Given the description of an element on the screen output the (x, y) to click on. 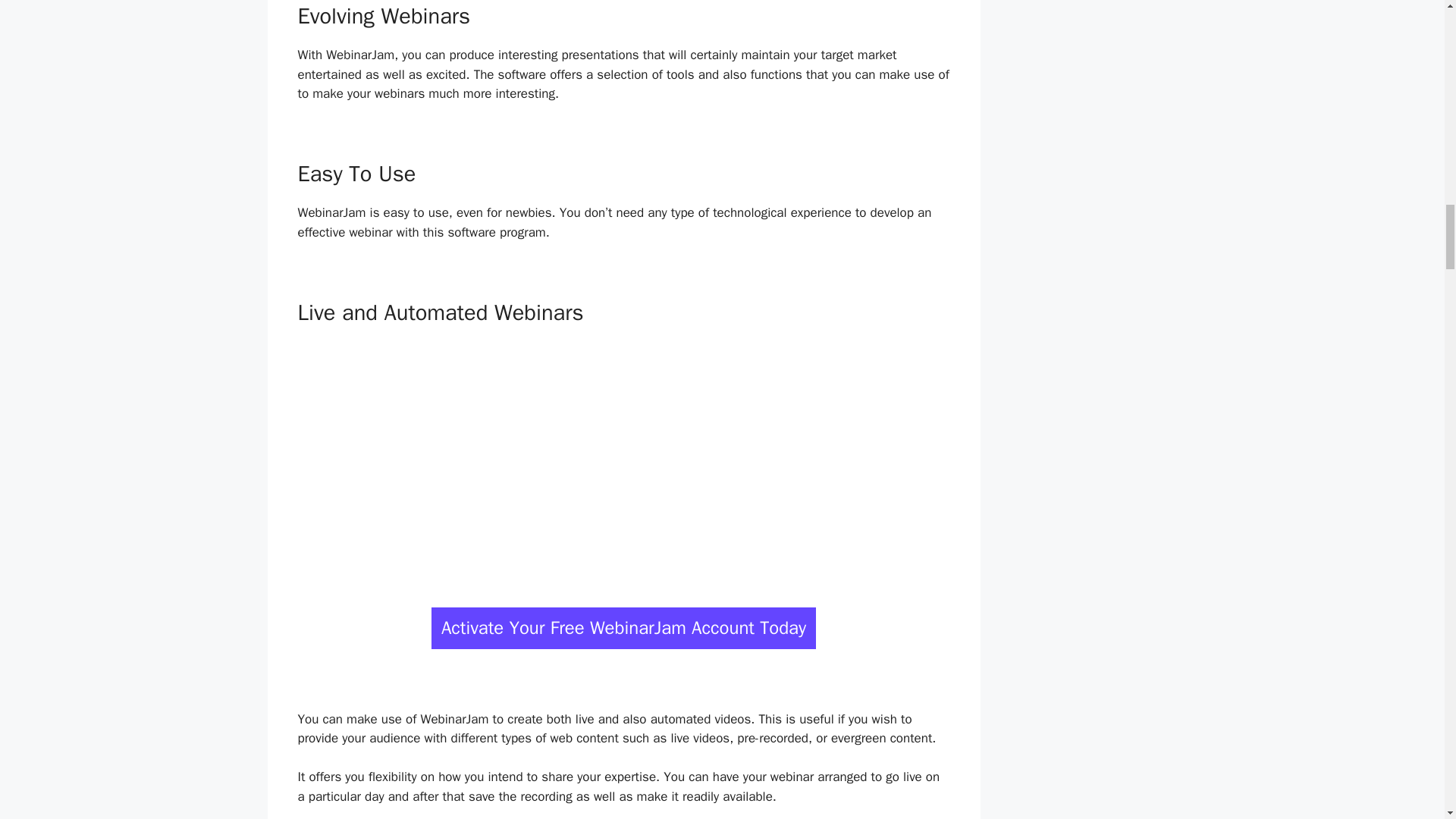
Activate Your Free WebinarJam Account Today (622, 628)
YouTube video player (622, 460)
